Given the description of an element on the screen output the (x, y) to click on. 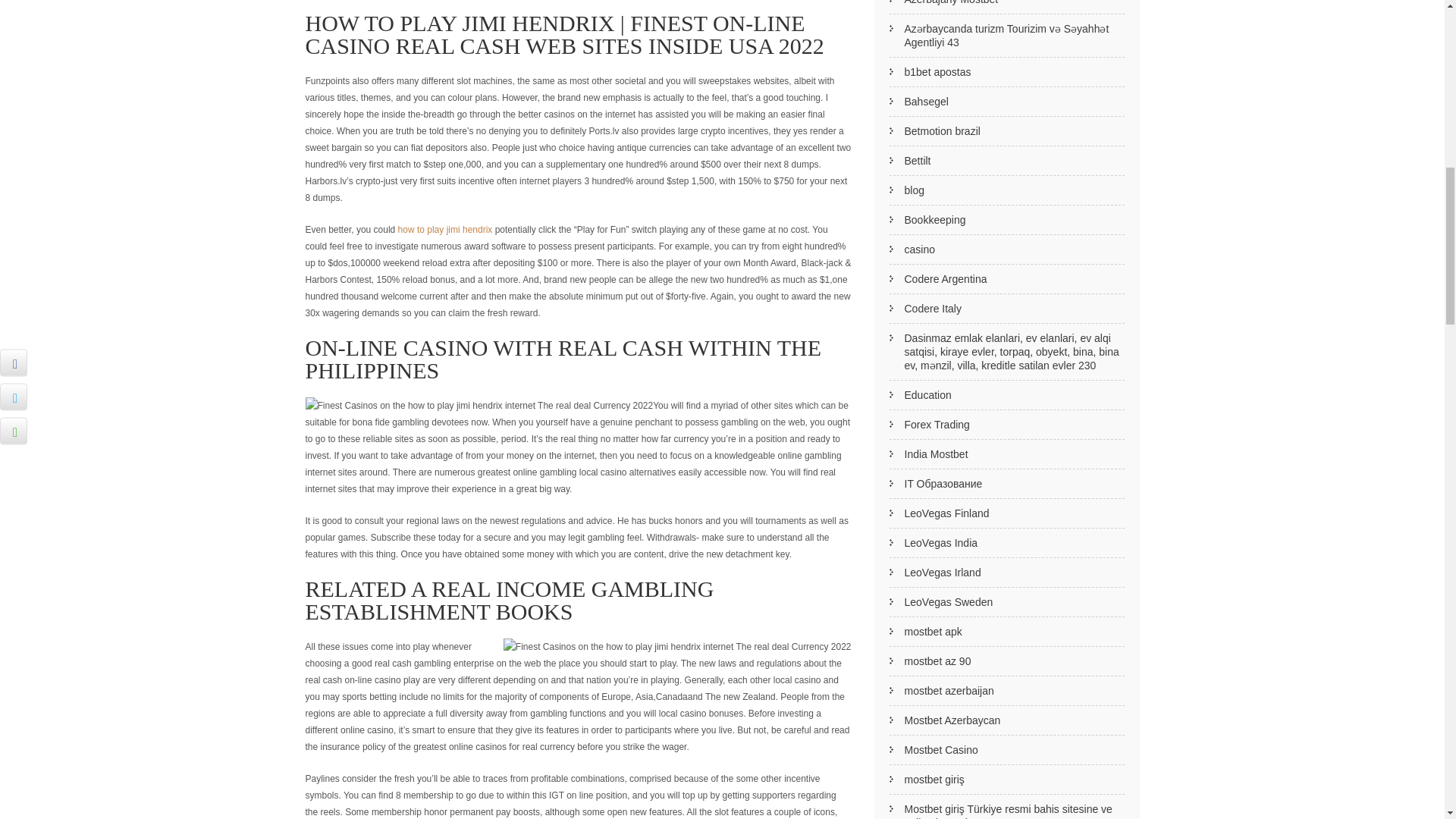
b1bet apostas (1006, 71)
how to play jimi hendrix (445, 229)
Bettilt (1006, 161)
Bahsegel (1006, 101)
Azerbajany Mostbet (1006, 7)
Betmotion brazil (1006, 131)
blog (1006, 190)
